Given the description of an element on the screen output the (x, y) to click on. 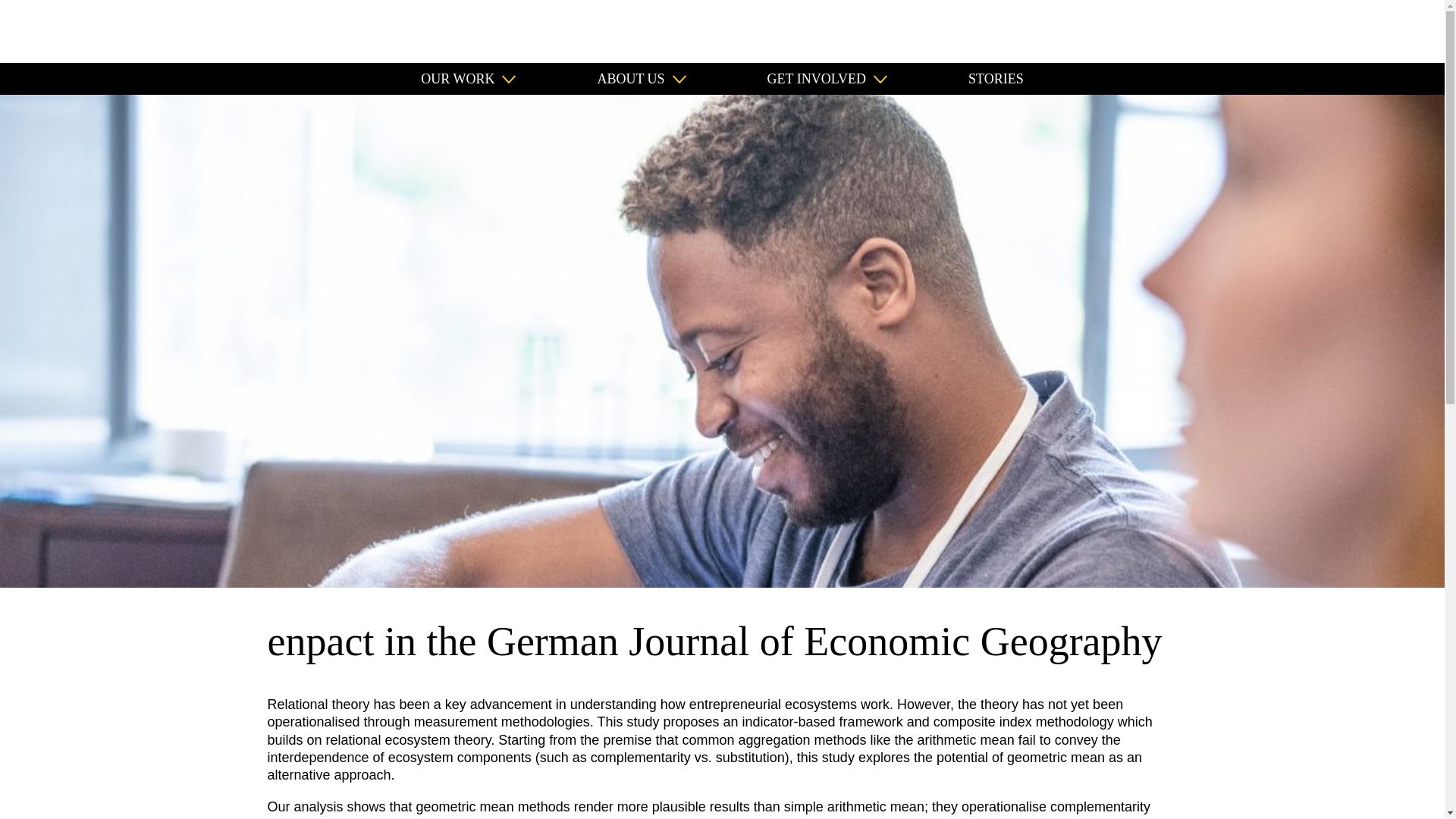
GET INVOLVED (827, 79)
OUR WORK (467, 79)
LinkedIn (1331, 31)
Instagram (1298, 31)
empowering entrepreneurship (78, 30)
ABOUT US (640, 79)
Facebook (1364, 31)
Twitter (1398, 31)
STORIES (995, 79)
